Given the description of an element on the screen output the (x, y) to click on. 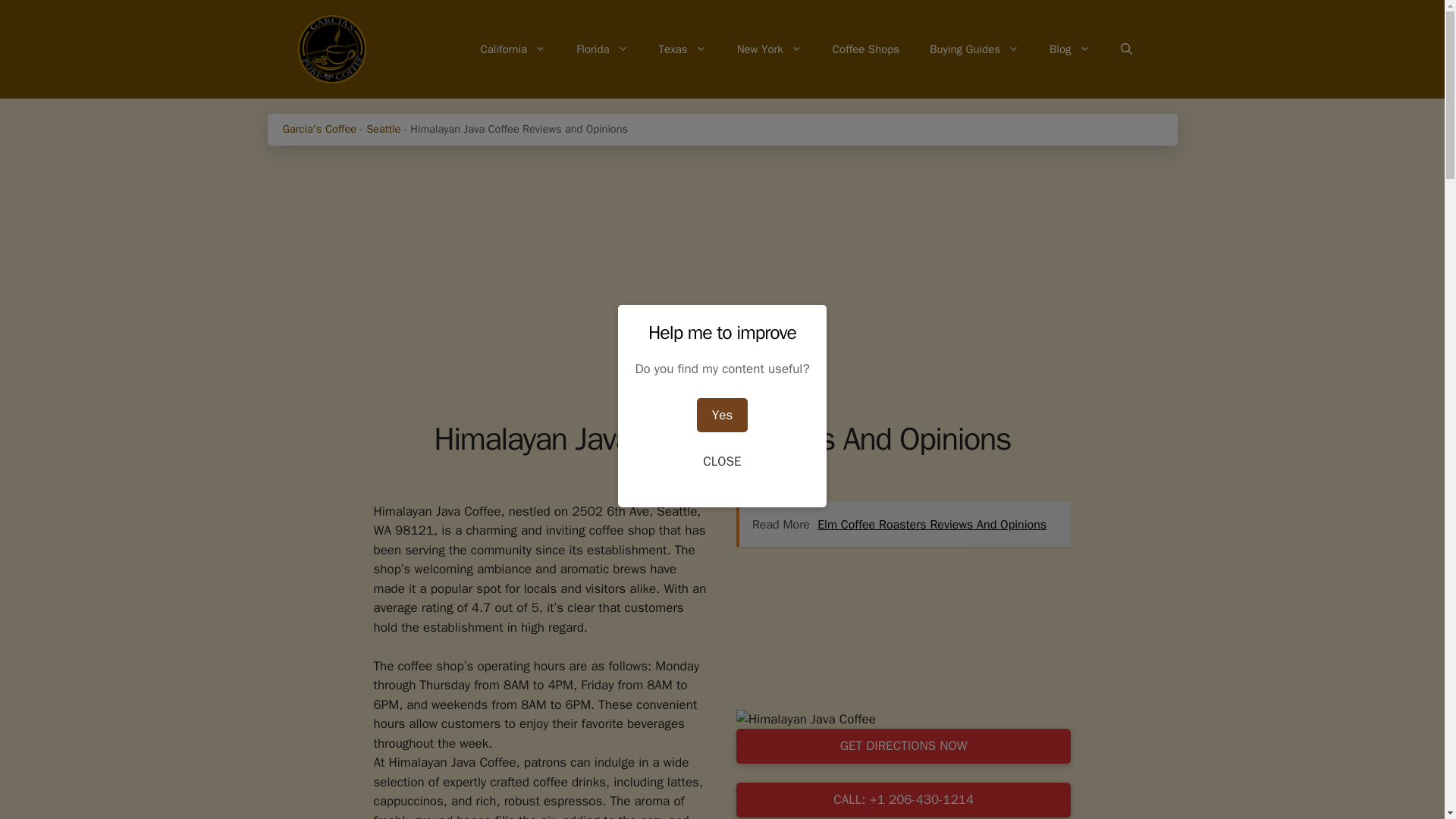
Texas (682, 49)
Buying Guides (973, 49)
New York (769, 49)
Blog (1069, 49)
Coffee Shops (865, 49)
Himalayan Java Coffee (806, 719)
Florida (601, 49)
California (512, 49)
